Given the description of an element on the screen output the (x, y) to click on. 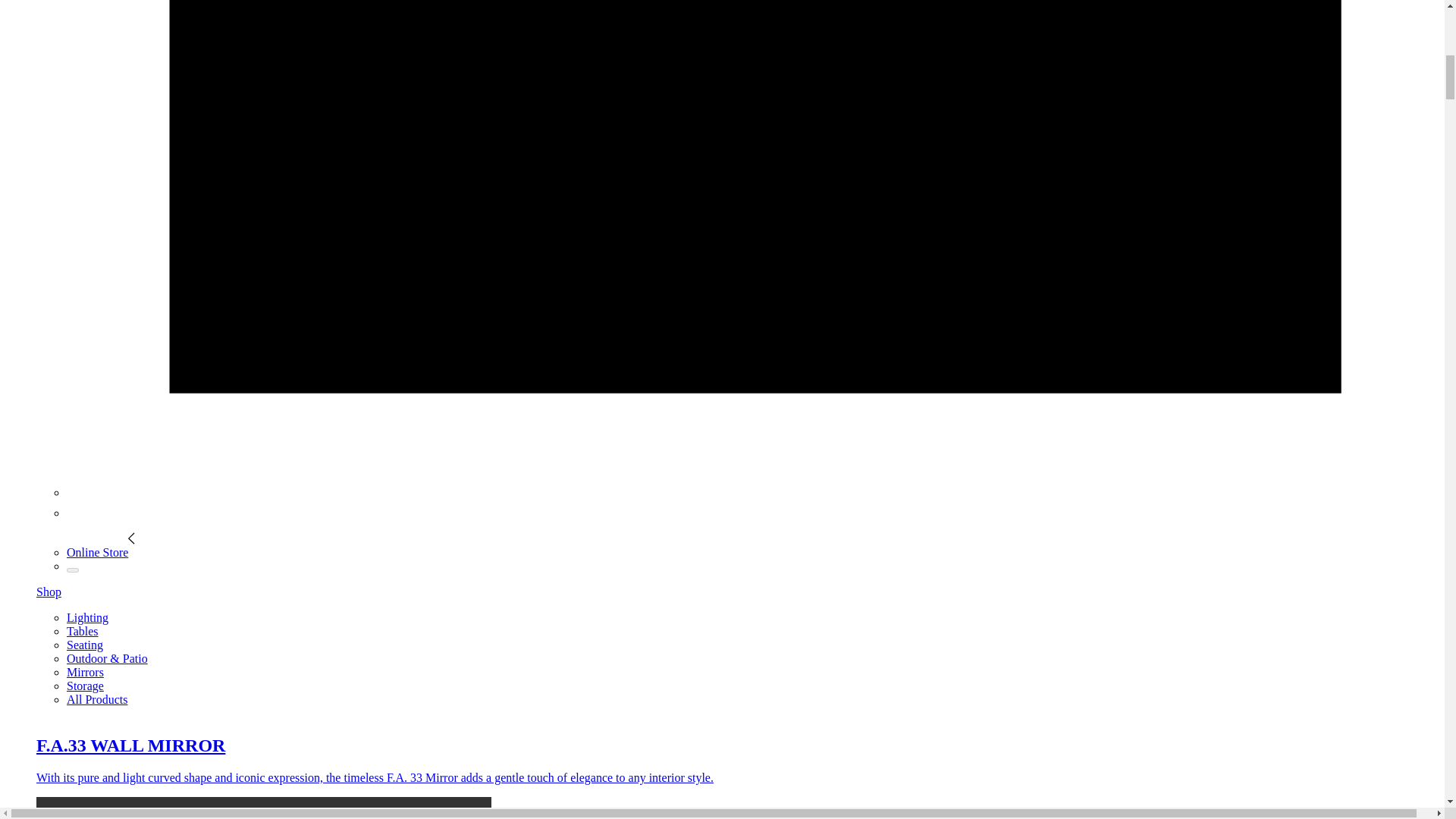
Storage (84, 685)
Online Store (100, 552)
Tables (82, 631)
Seating (84, 644)
Mirrors (84, 671)
Lighting (86, 617)
Shop (48, 591)
All Products (97, 698)
